Given the description of an element on the screen output the (x, y) to click on. 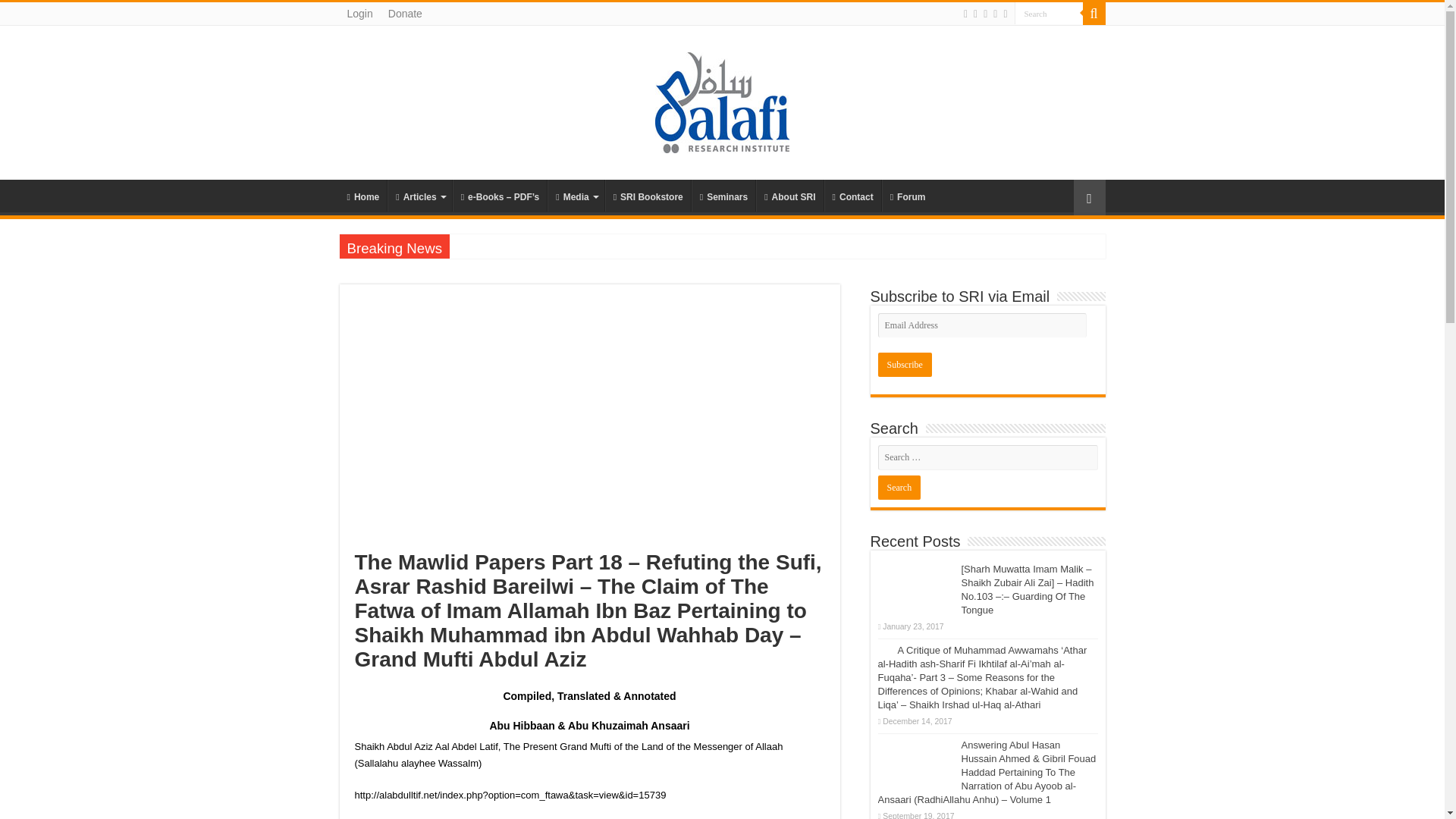
Search (899, 487)
Search (899, 487)
Home (363, 195)
Articles (419, 195)
Search (1048, 13)
Subscribe (904, 364)
Search (1048, 13)
Search (1048, 13)
Donate (404, 13)
Salafi Research Institute (722, 99)
Login (359, 13)
Search (1094, 13)
